Given the description of an element on the screen output the (x, y) to click on. 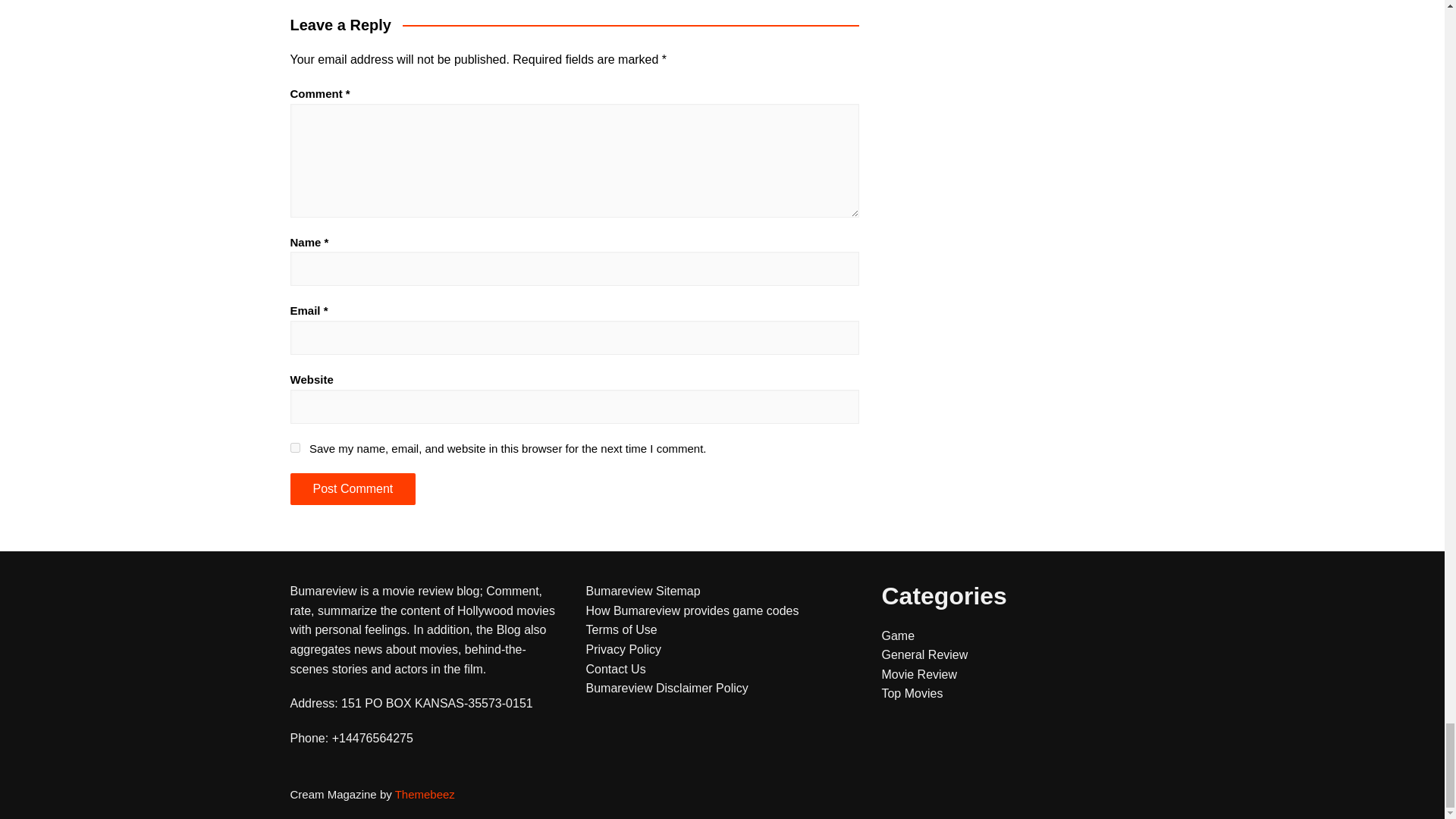
yes (294, 447)
Post Comment (351, 489)
